Given the description of an element on the screen output the (x, y) to click on. 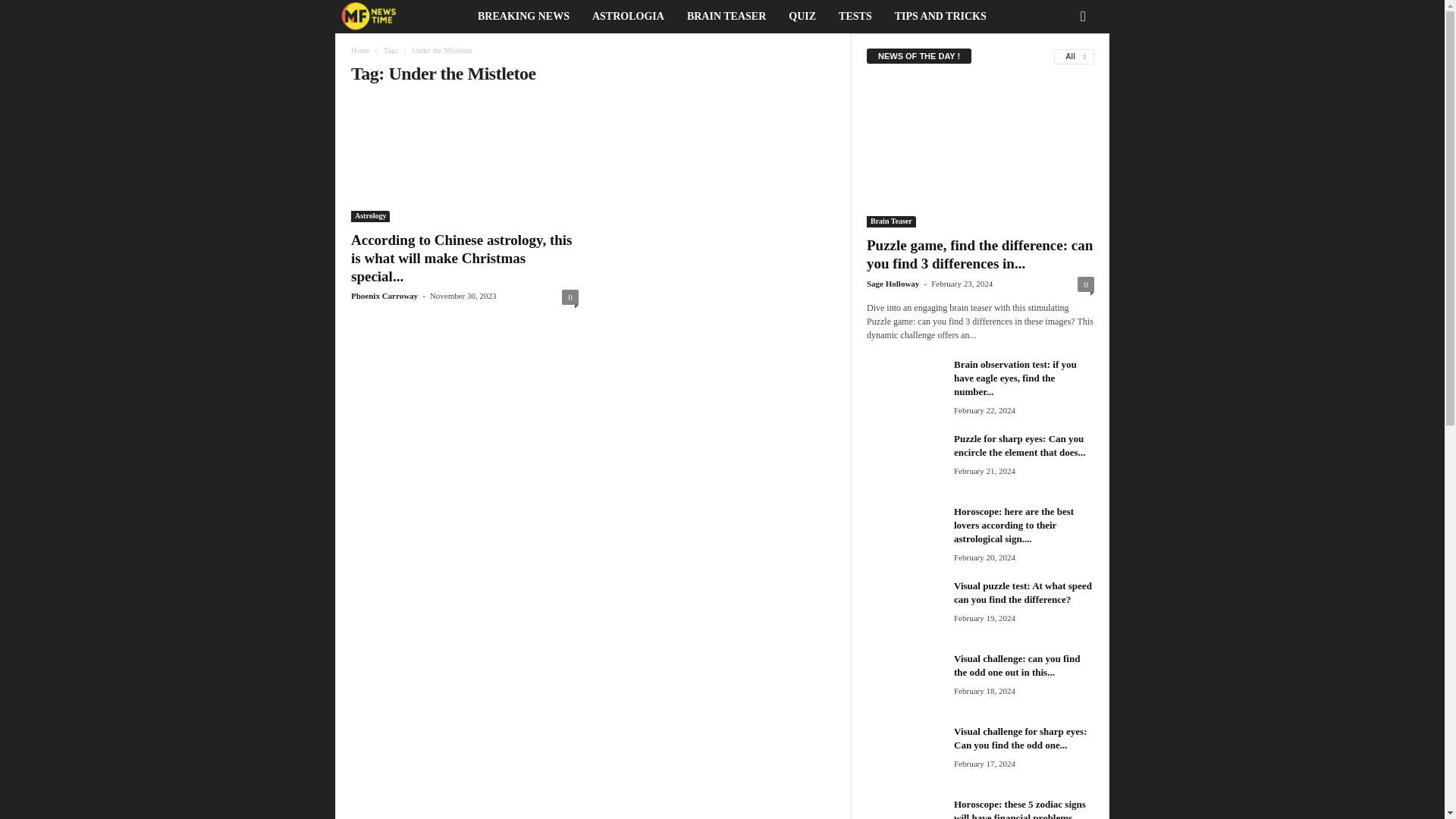
0 (570, 296)
0 (1085, 283)
Phoenix Carroway (383, 295)
Home (359, 49)
BREAKING NEWS (522, 16)
TIPS AND TRICKS (940, 16)
TESTS (855, 16)
Sage Holloway (892, 283)
